Given the description of an element on the screen output the (x, y) to click on. 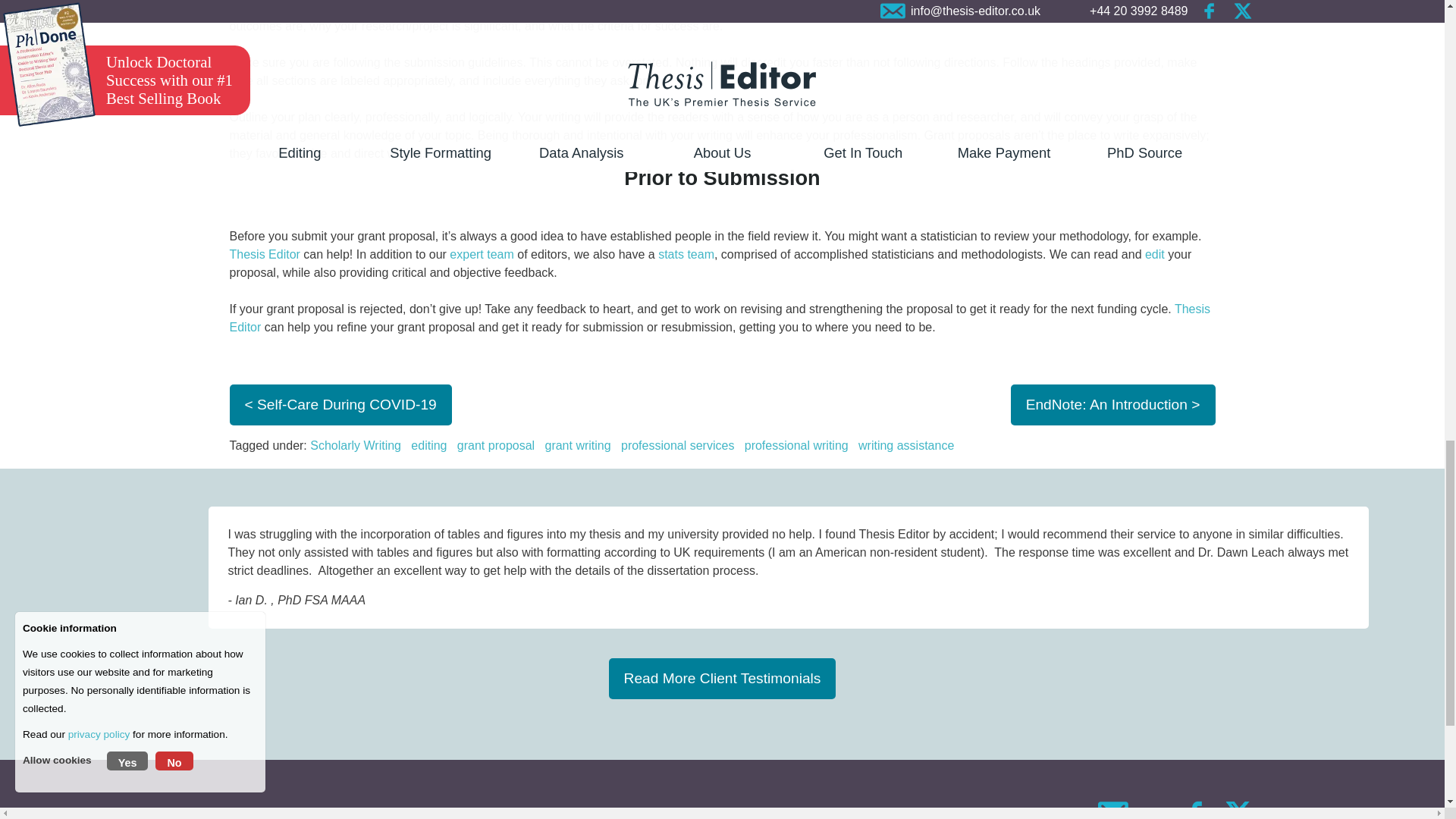
edit (1154, 254)
expert team (481, 254)
Thesis Editor (718, 317)
Thesis Editor (263, 254)
stats team (686, 254)
